Given the description of an element on the screen output the (x, y) to click on. 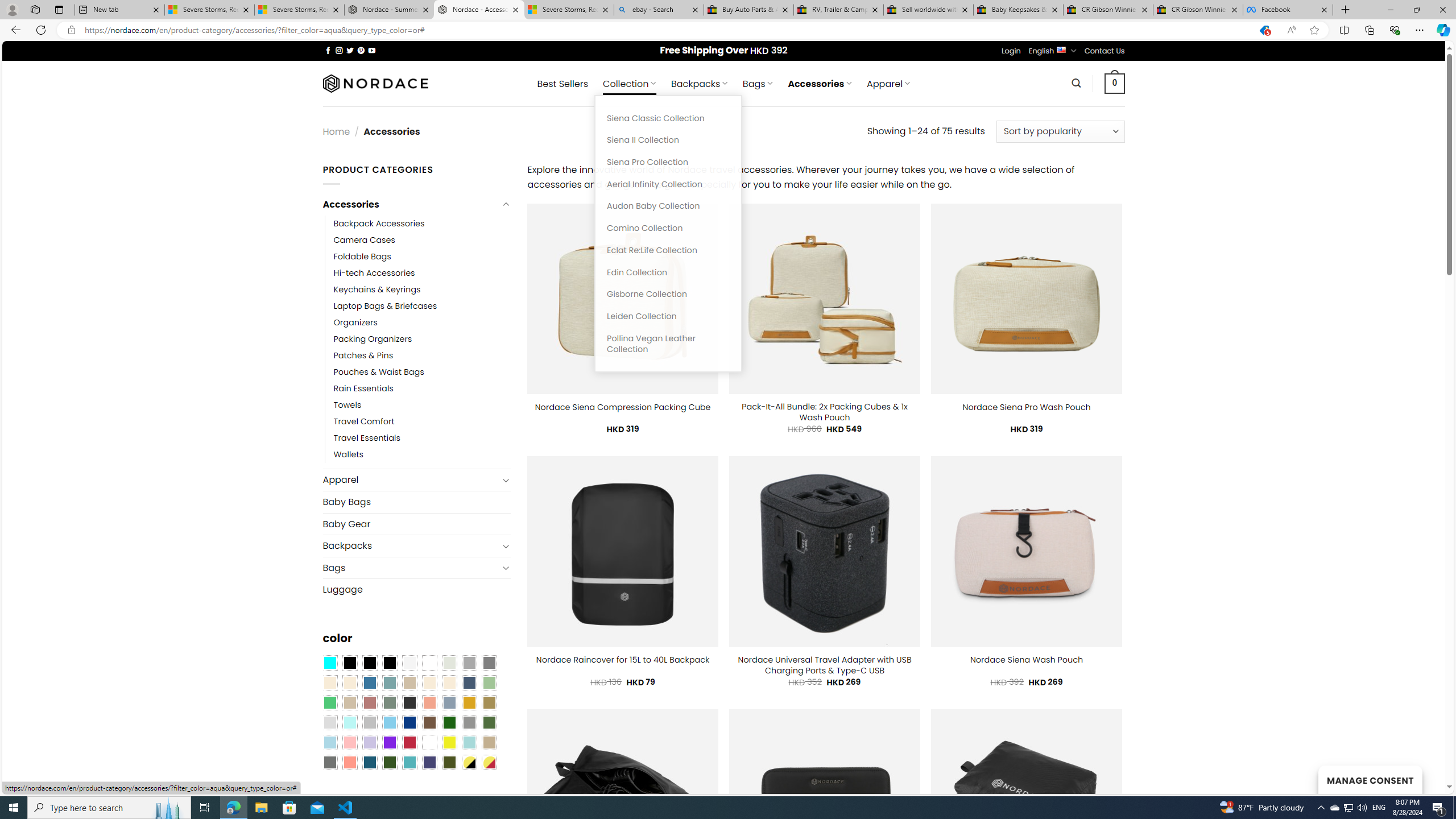
Dark Green (449, 721)
  Best Sellers (562, 83)
Black-Brown (389, 662)
Keychains & Keyrings (376, 289)
Blue Sage (389, 681)
Baby Bags (416, 501)
